Given the description of an element on the screen output the (x, y) to click on. 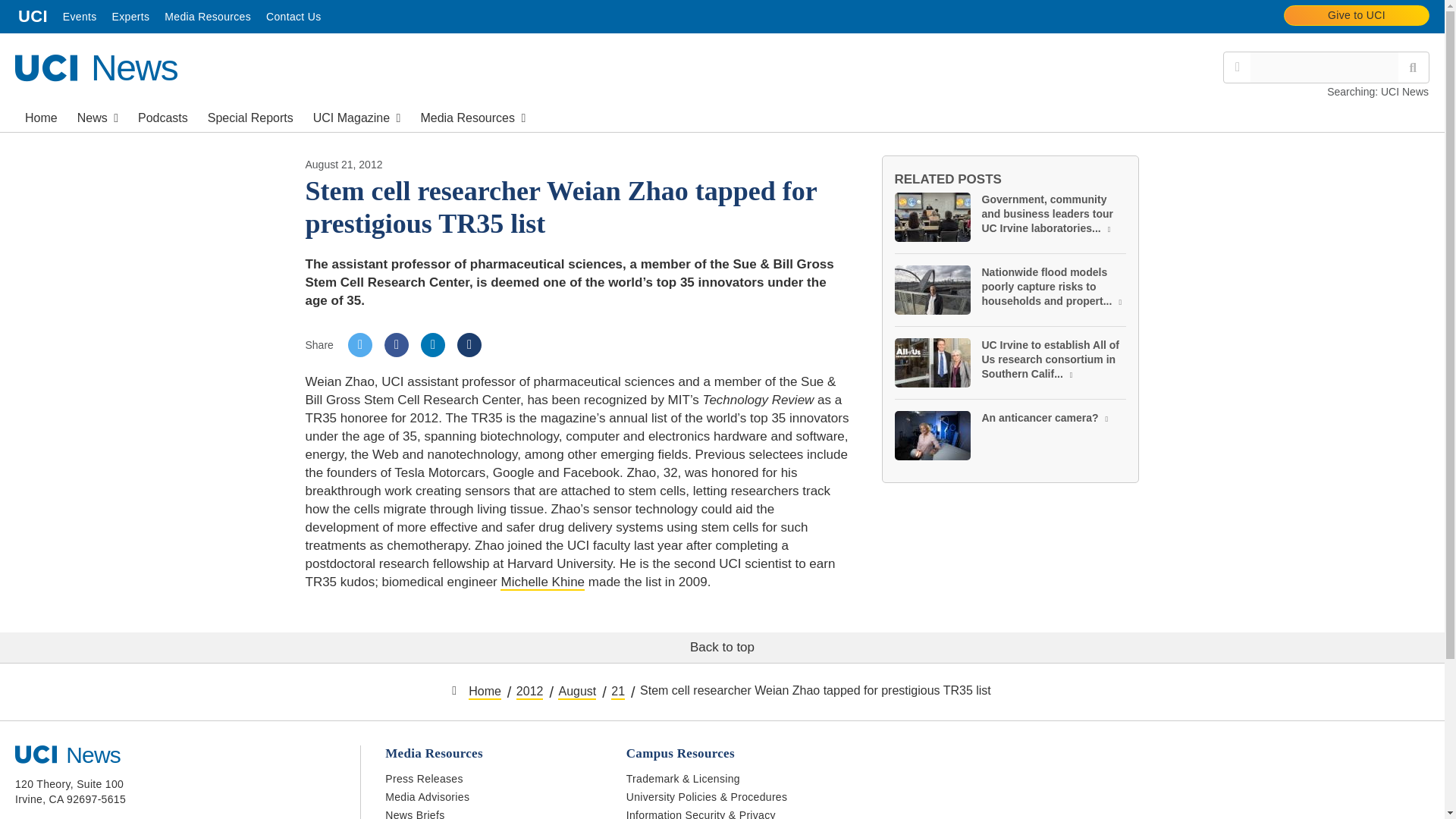
Media Resources (207, 16)
News (97, 116)
Select search type (1237, 66)
Contact Us (293, 16)
UCI (32, 16)
Media Resources (207, 16)
Contact Us (293, 16)
Experts (95, 67)
Events (130, 16)
UCI Magazine (79, 16)
Special Reports (356, 116)
UCI (1356, 14)
Events (250, 116)
